Given the description of an element on the screen output the (x, y) to click on. 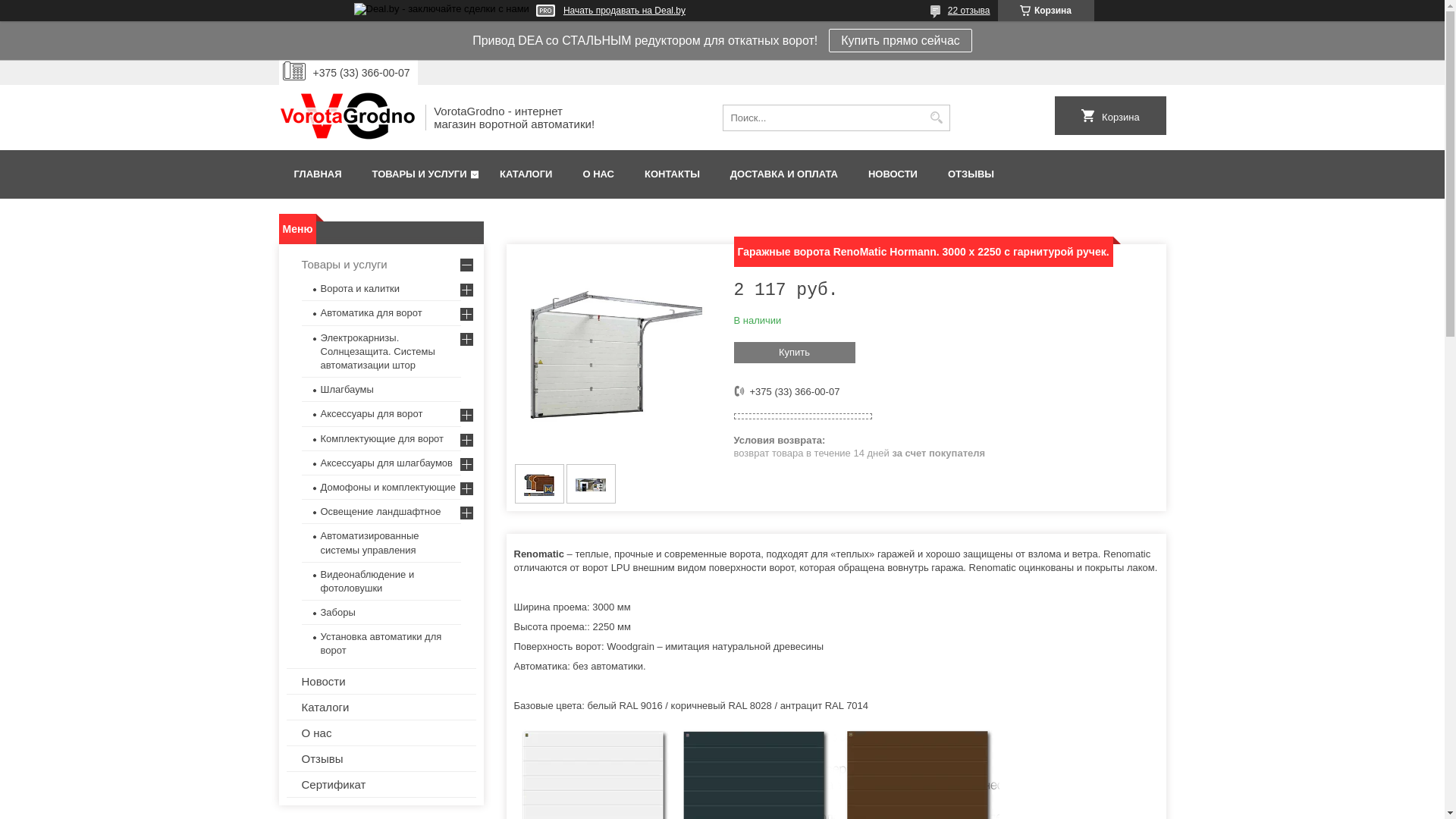
VorotaGrodno Element type: hover (347, 117)
